Given the description of an element on the screen output the (x, y) to click on. 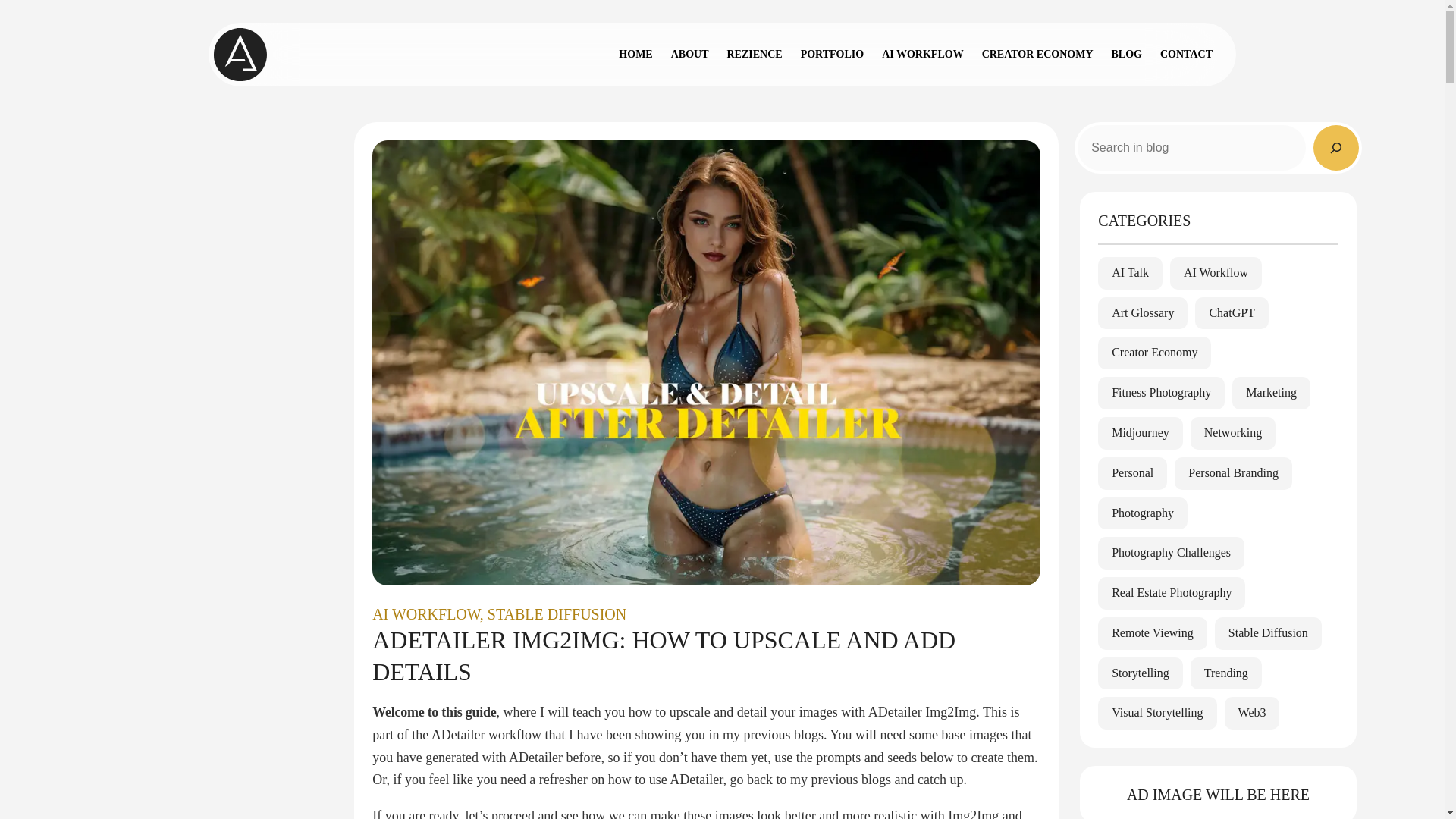
AI WORKFLOW (426, 614)
STABLE DIFFUSION (556, 614)
BLOG (1126, 54)
REZIENCE (753, 54)
CONTACT (1186, 54)
PORTFOLIO (832, 54)
HOME (635, 54)
ABOUT (690, 54)
AI WORKFLOW (922, 54)
CREATOR ECONOMY (1037, 54)
